Given the description of an element on the screen output the (x, y) to click on. 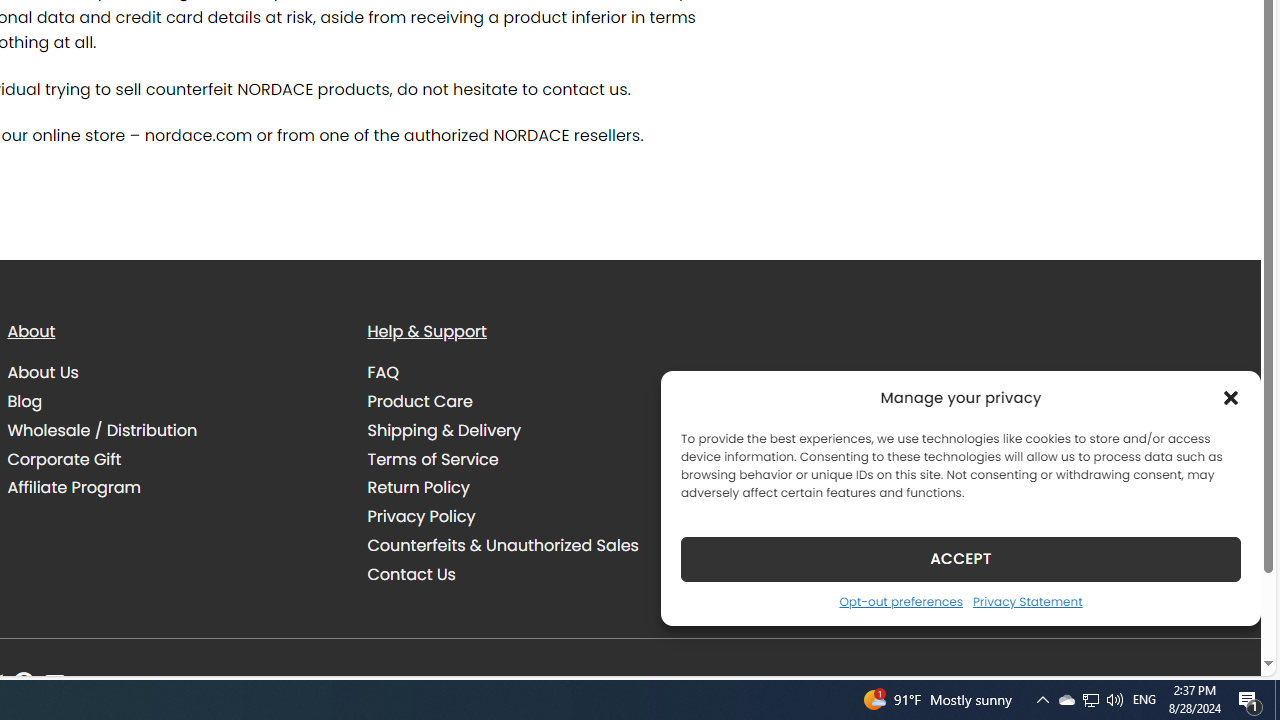
Class: cmplz-close (1231, 397)
About Us (171, 372)
Return Policy (532, 488)
Wholesale / Distribution (171, 430)
Shipping & Delivery (532, 430)
Corporate Gift (63, 458)
Counterfeits & Unauthorized Sales (502, 544)
Blog (171, 401)
Follow on YouTube (54, 683)
Wholesale / Distribution (102, 430)
Shipping & Delivery (444, 430)
About Us (42, 372)
Blog (24, 400)
Privacy Statement (1026, 601)
Terms of Service (433, 458)
